Given the description of an element on the screen output the (x, y) to click on. 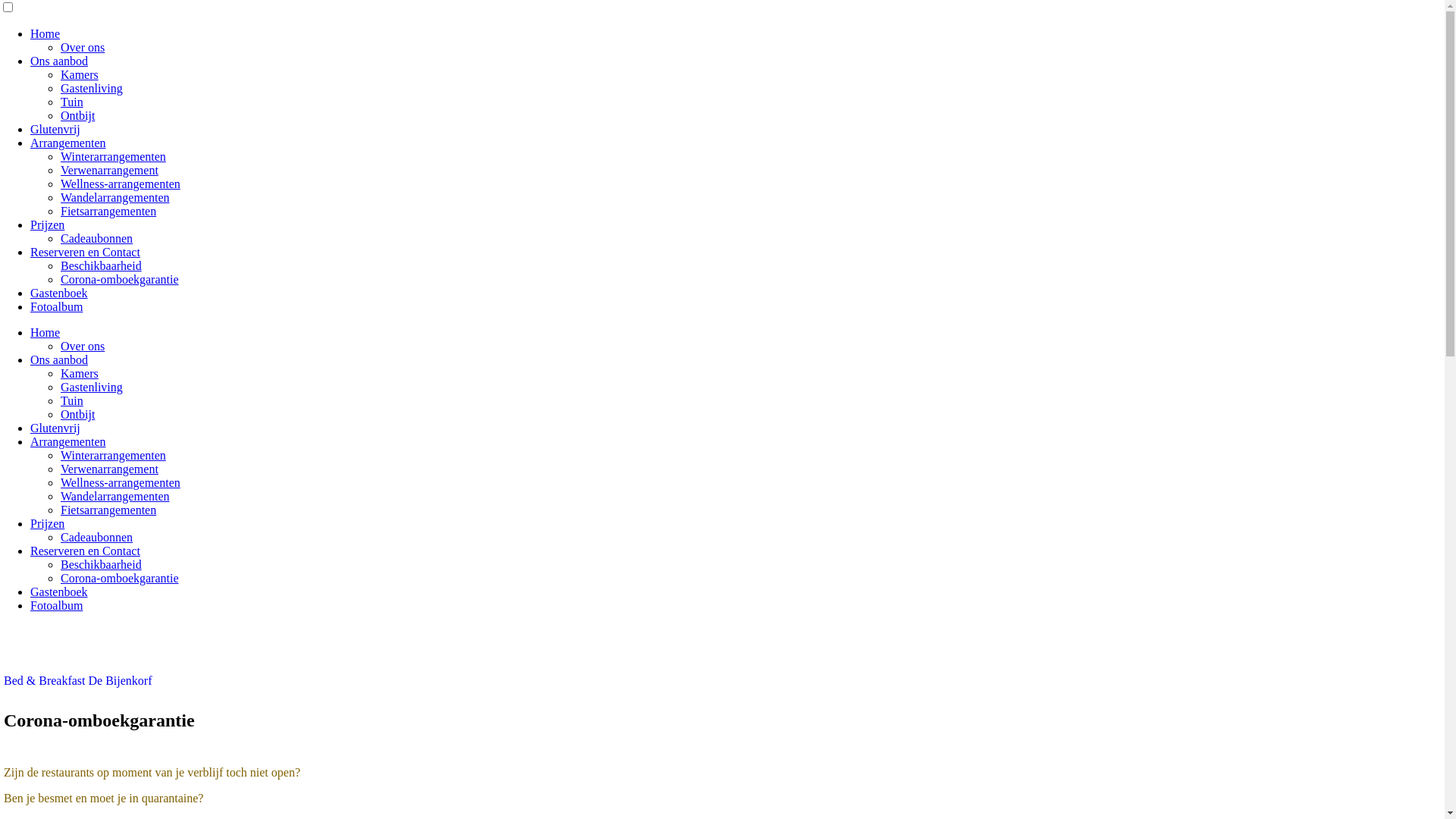
Ons aanbod Element type: text (58, 60)
Fotoalbum Element type: text (56, 306)
Arrangementen Element type: text (68, 142)
Cadeaubonnen Element type: text (96, 238)
Over ons Element type: text (82, 345)
Arrangementen Element type: text (68, 441)
Gastenboek Element type: text (58, 292)
Kamers Element type: text (79, 373)
Fotoalbum Element type: text (56, 605)
Gastenboek Element type: text (58, 591)
Prijzen Element type: text (47, 224)
Fietsarrangementen Element type: text (108, 509)
Beschikbaarheid Element type: text (100, 564)
Fietsarrangementen Element type: text (108, 210)
Wellness-arrangementen Element type: text (120, 183)
Winterarrangementen Element type: text (113, 454)
Tuin Element type: text (71, 400)
Reserveren en Contact Element type: text (85, 251)
Wellness-arrangementen Element type: text (120, 482)
Wandelarrangementen Element type: text (114, 495)
Corona-omboekgarantie Element type: text (119, 577)
Ons aanbod Element type: text (58, 359)
Winterarrangementen Element type: text (113, 156)
Over ons Element type: text (82, 46)
Glutenvrij Element type: text (55, 128)
Kamers Element type: text (79, 74)
Home Element type: text (44, 332)
Home Element type: text (44, 33)
Ontbijt Element type: text (77, 413)
Verwenarrangement Element type: text (109, 468)
Ontbijt Element type: text (77, 115)
Prijzen Element type: text (47, 523)
Tuin Element type: text (71, 101)
Verwenarrangement Element type: text (109, 169)
Gastenliving Element type: text (91, 386)
Wandelarrangementen Element type: text (114, 197)
Cadeaubonnen Element type: text (96, 536)
Glutenvrij Element type: text (55, 427)
Reserveren en Contact Element type: text (85, 550)
Gastenliving Element type: text (91, 87)
Corona-omboekgarantie Element type: text (119, 279)
Bed & Breakfast De Bijenkorf Element type: text (77, 680)
Beschikbaarheid Element type: text (100, 265)
